Given the description of an element on the screen output the (x, y) to click on. 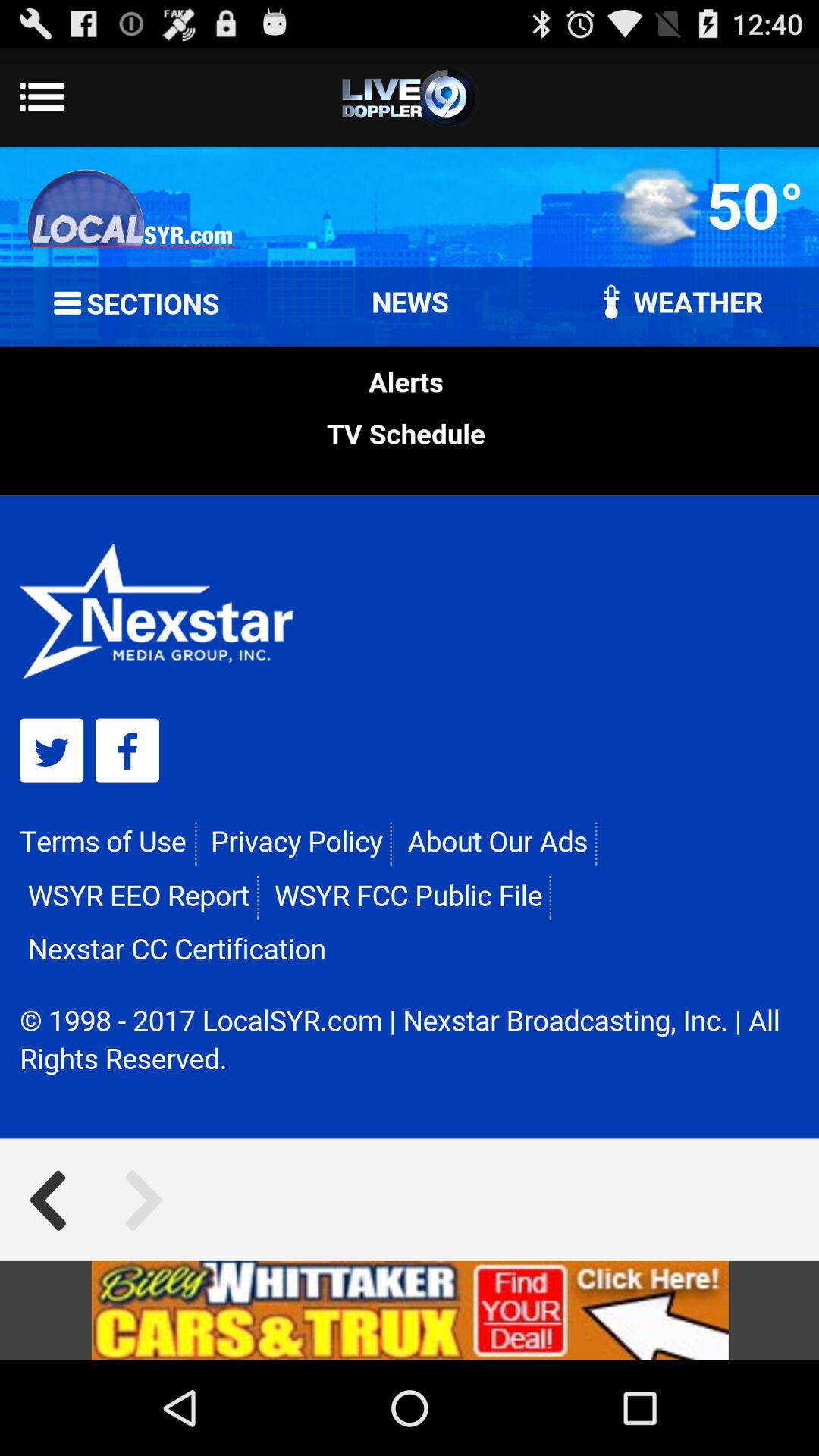
advertisement (409, 1310)
